Given the description of an element on the screen output the (x, y) to click on. 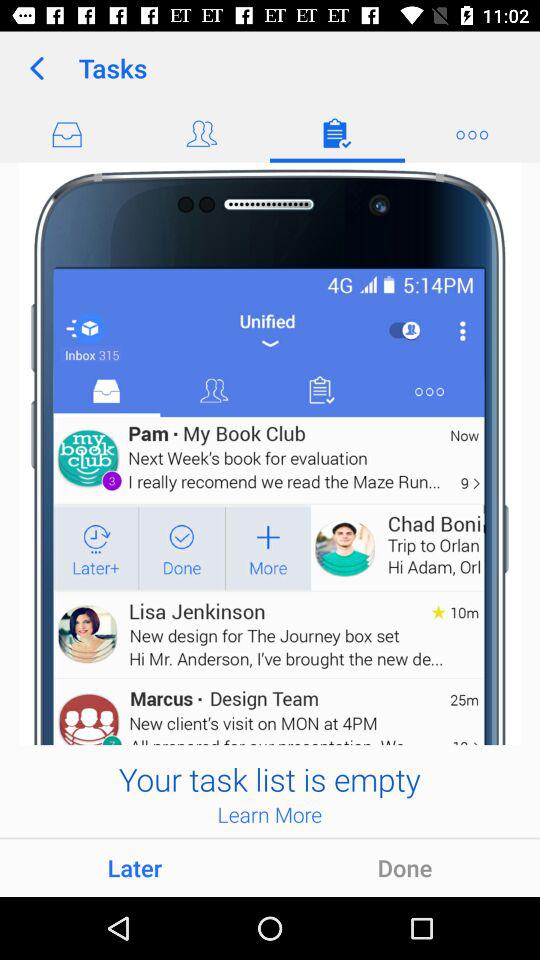
swipe until the learn more app (269, 814)
